Given the description of an element on the screen output the (x, y) to click on. 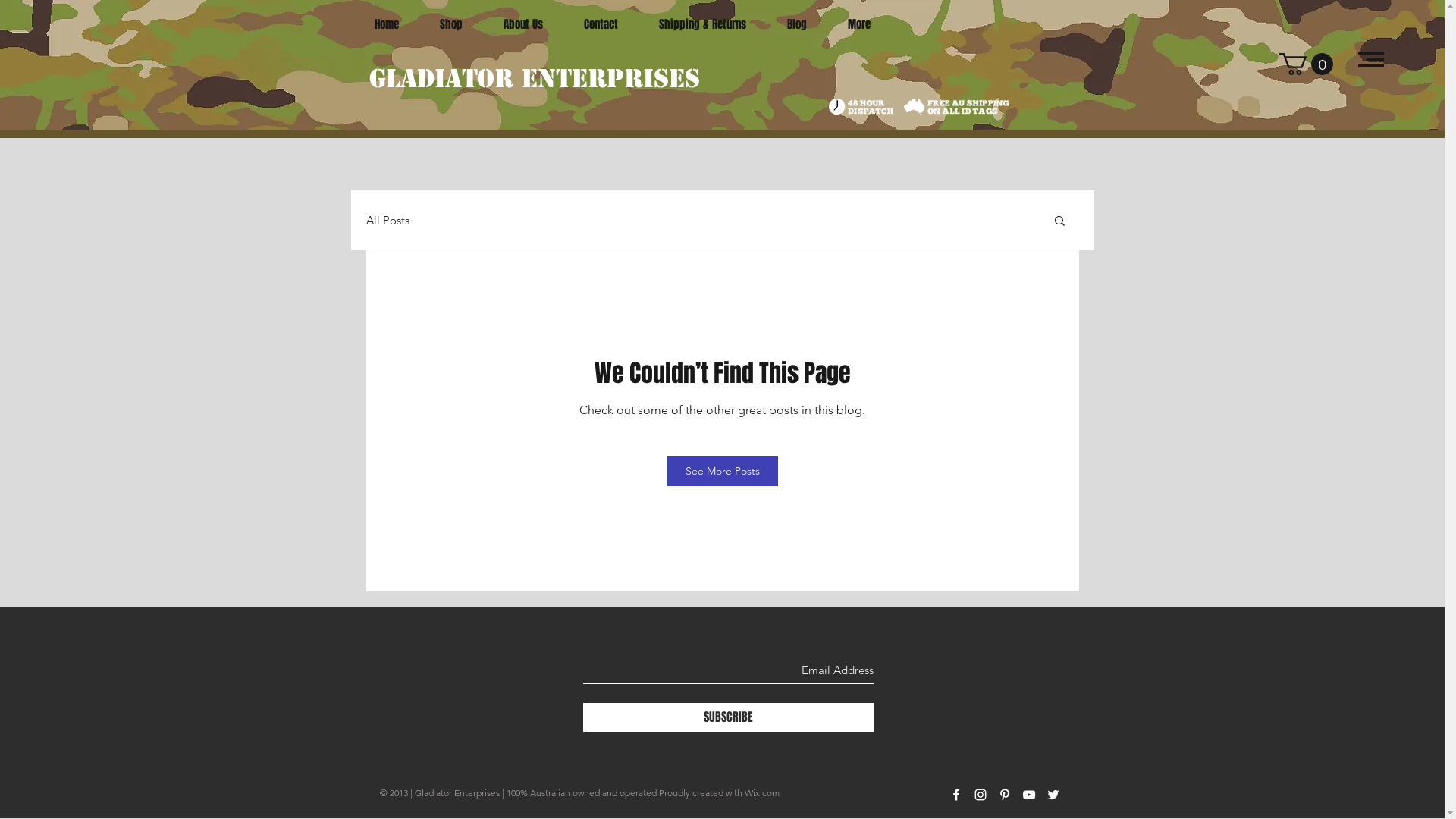
0 Element type: text (1306, 64)
Shop Element type: text (450, 24)
Shipping & Returns Element type: text (702, 24)
See More Posts Element type: text (722, 470)
SUBSCRIBE Element type: text (727, 716)
About Us Element type: text (522, 24)
All Posts Element type: text (386, 219)
Wix.com Element type: text (761, 792)
Blog Element type: text (795, 24)
Contact Element type: text (599, 24)
Home Element type: text (385, 24)
